Given the description of an element on the screen output the (x, y) to click on. 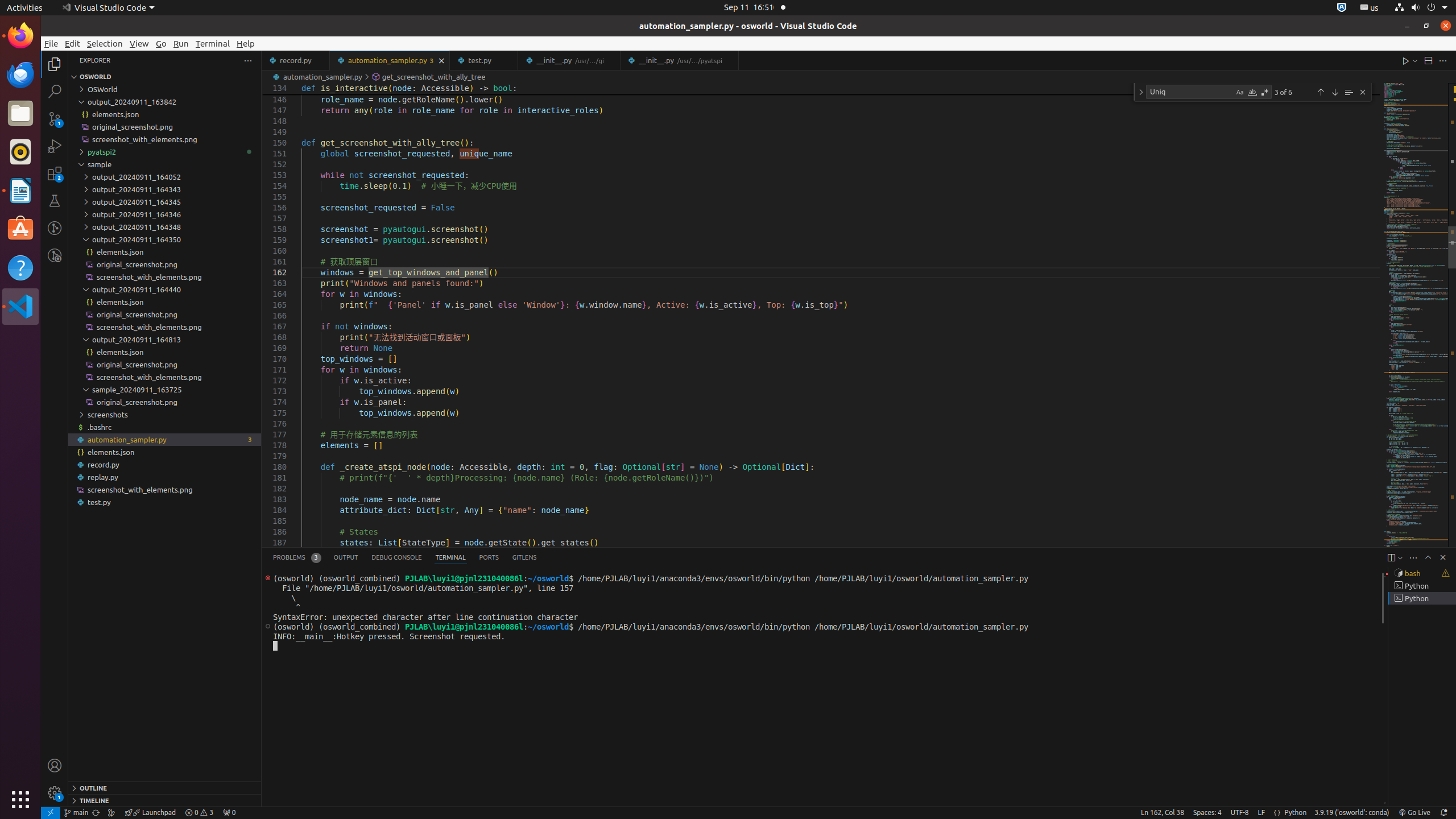
rocket gitlens-unplug Launchpad, GitLens Launchpad ᴘʀᴇᴠɪᴇᴡ    &mdash;    [$(question)](command:gitlens.launchpad.indicator.action?%22info%22 "What is this?") [$(gear)](command:workbench.action.openSettings?%22gitlens.launchpad%22 "Settings")  |  [$(circle-slash) Hide](command:gitlens.launchpad.indicator.action?%22hide%22 "Hide") --- [Launchpad](command:gitlens.launchpad.indicator.action?%info%22 "Learn about Launchpad") organizes your pull requests into actionable groups to help you focus and keep your team unblocked. It's always accessible using the `GitLens: Open Launchpad` command from the Command Palette. --- [Connect an integration](command:gitlens.showLaunchpad?%7B%22source%22%3A%22launchpad-indicator%22%7D "Connect an integration") to get started. Element type: push-button (150, 812)
Files Explorer Element type: tree (164, 432)
Editor Language Status: Auto Import Completions: false, next: Type Checking: off Element type: push-button (1277, 812)
sample_20240911_163725 Element type: tree-item (164, 389)
